Given the description of an element on the screen output the (x, y) to click on. 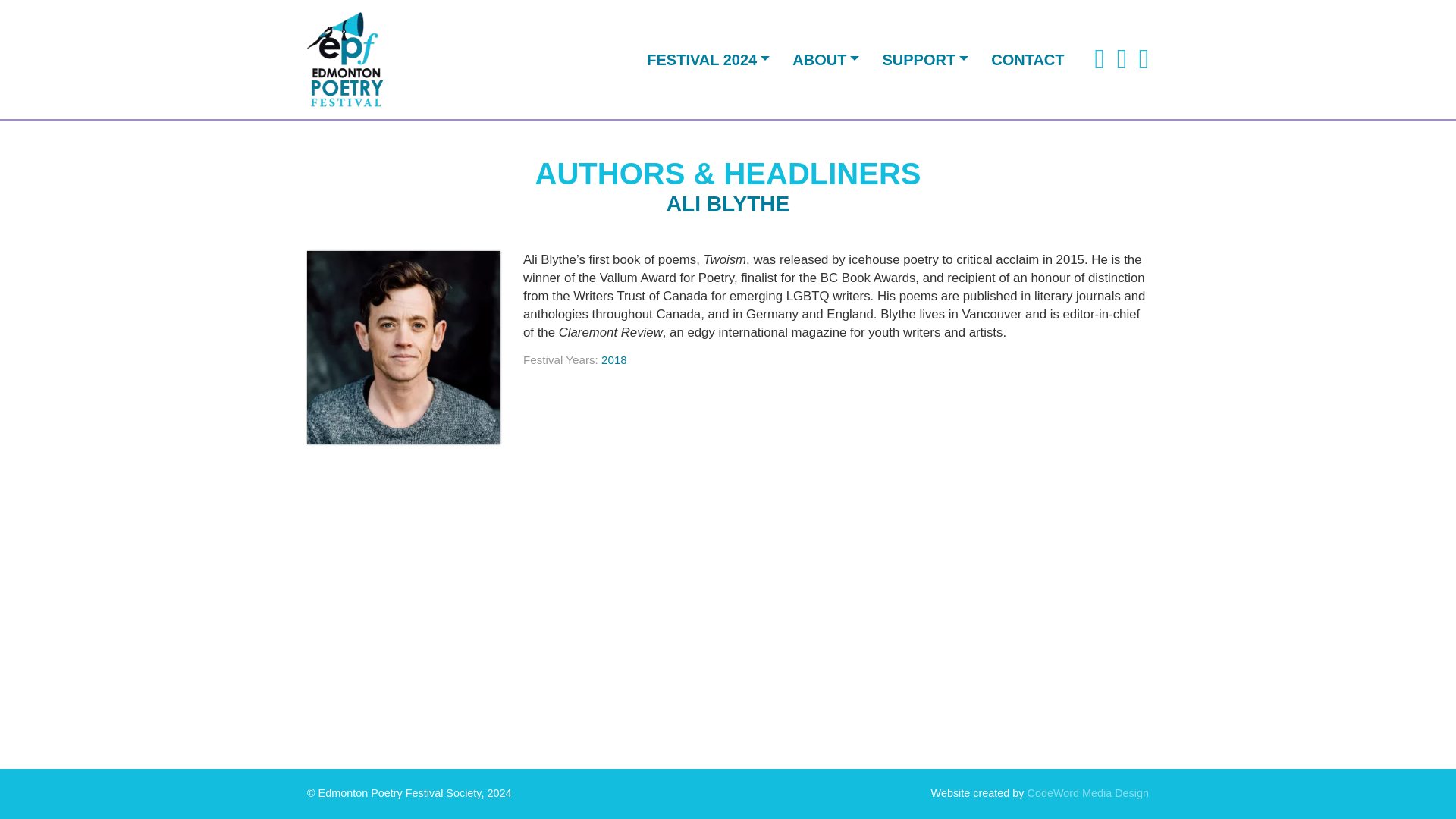
CONTACT (1027, 58)
FESTIVAL 2024 (708, 58)
2018 (614, 359)
Support (925, 58)
About (825, 58)
ABOUT (825, 58)
Festival 2024 (708, 58)
Contact (1027, 58)
Edmonton Poetry Festival (344, 58)
CodeWord Media Design (1087, 793)
SUPPORT (925, 58)
